Given the description of an element on the screen output the (x, y) to click on. 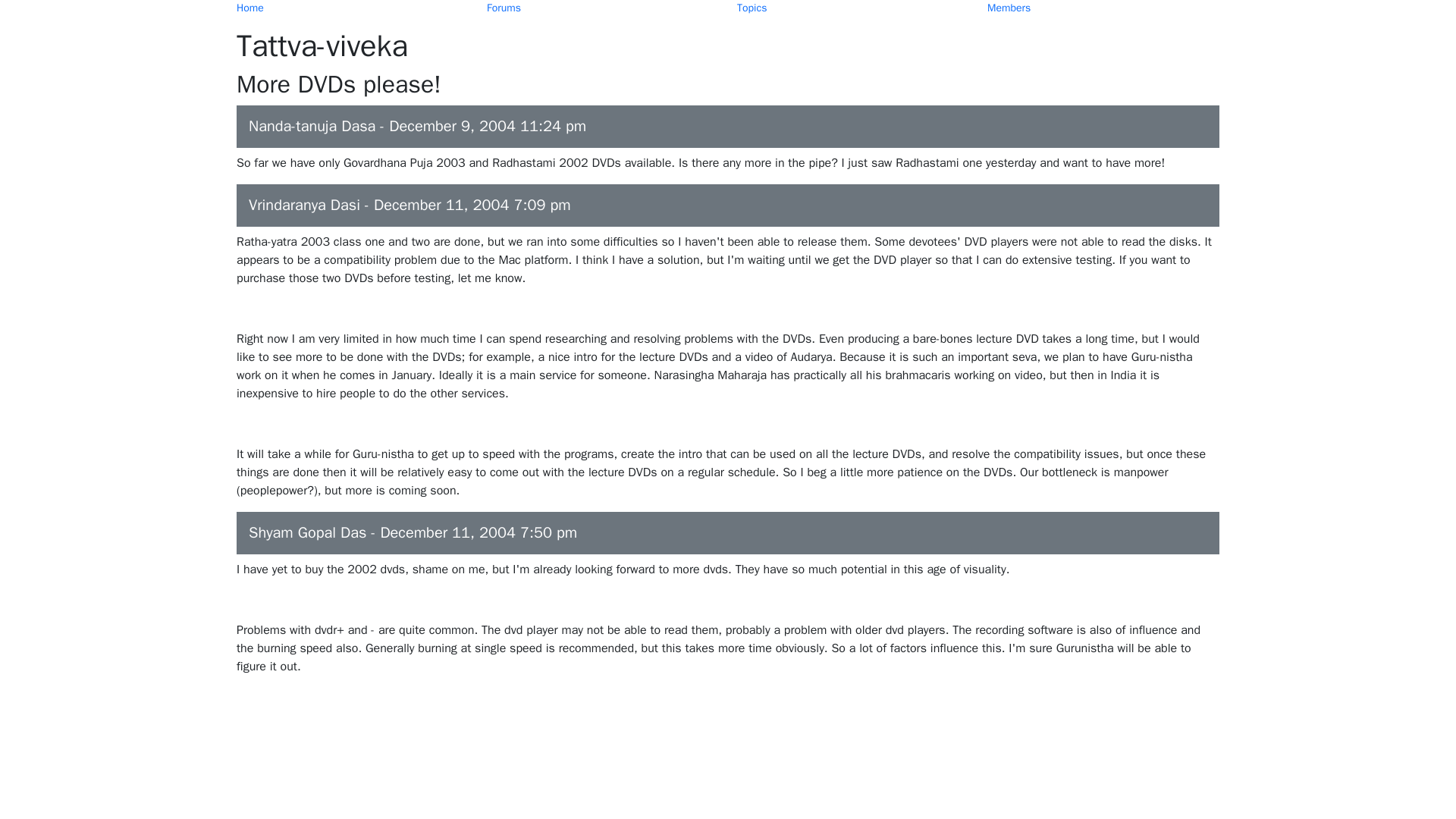
Topics (751, 7)
Home (249, 7)
Members (1008, 7)
Forums (503, 7)
